Given the description of an element on the screen output the (x, y) to click on. 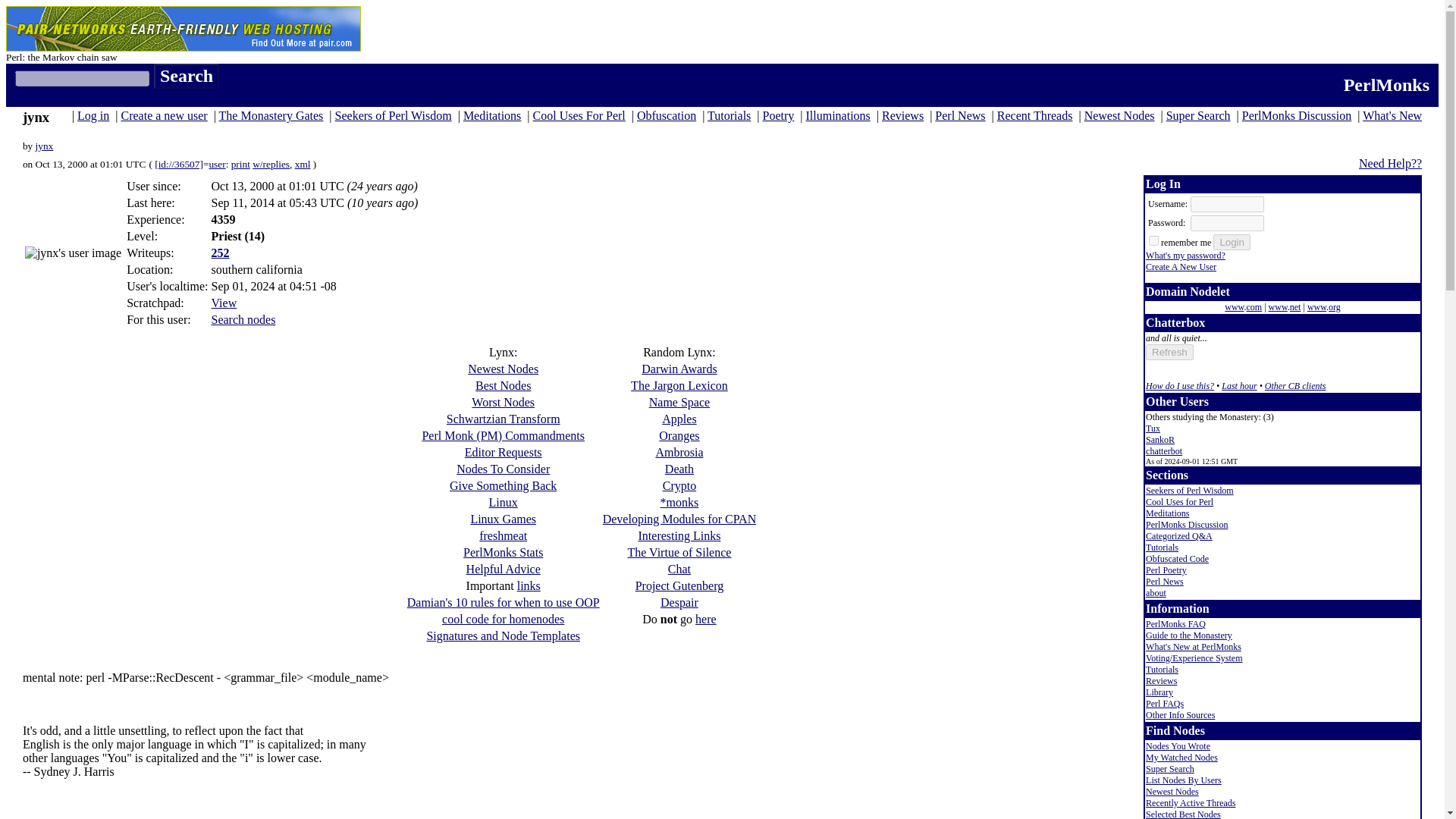
PerlMonks (1386, 85)
Reviews (902, 115)
Oranges (678, 435)
user (216, 163)
xml (303, 163)
SankoR's home node. Level 17 (1159, 439)
Refresh (1169, 351)
jynx (43, 145)
Apples (678, 418)
Cool Uses For Perl (579, 115)
